Given the description of an element on the screen output the (x, y) to click on. 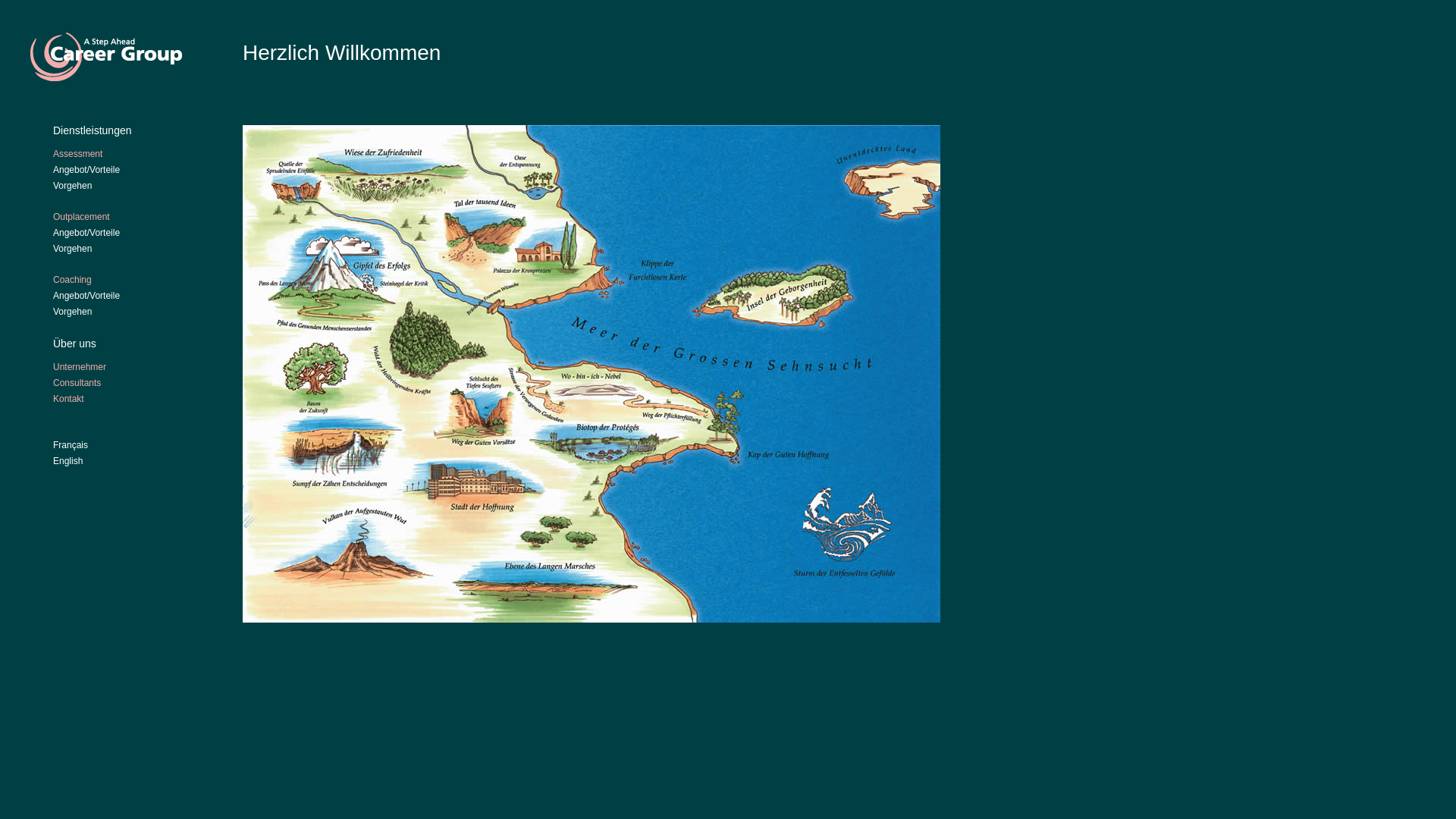
Unternehmer Element type: text (79, 366)
Angebot/Vorteile Element type: text (86, 295)
Angebot/Vorteile Element type: text (86, 232)
Angebot/Vorteile Element type: text (86, 169)
Assessment Element type: text (77, 153)
Kontakt Element type: text (68, 398)
Vorgehen Element type: text (72, 185)
Dienstleistungen Element type: text (92, 130)
Coaching Element type: text (72, 279)
Outplacement Element type: text (81, 216)
Vorgehen Element type: text (72, 311)
English Element type: text (67, 460)
Consultants Element type: text (76, 382)
Vorgehen Element type: text (72, 248)
